Given the description of an element on the screen output the (x, y) to click on. 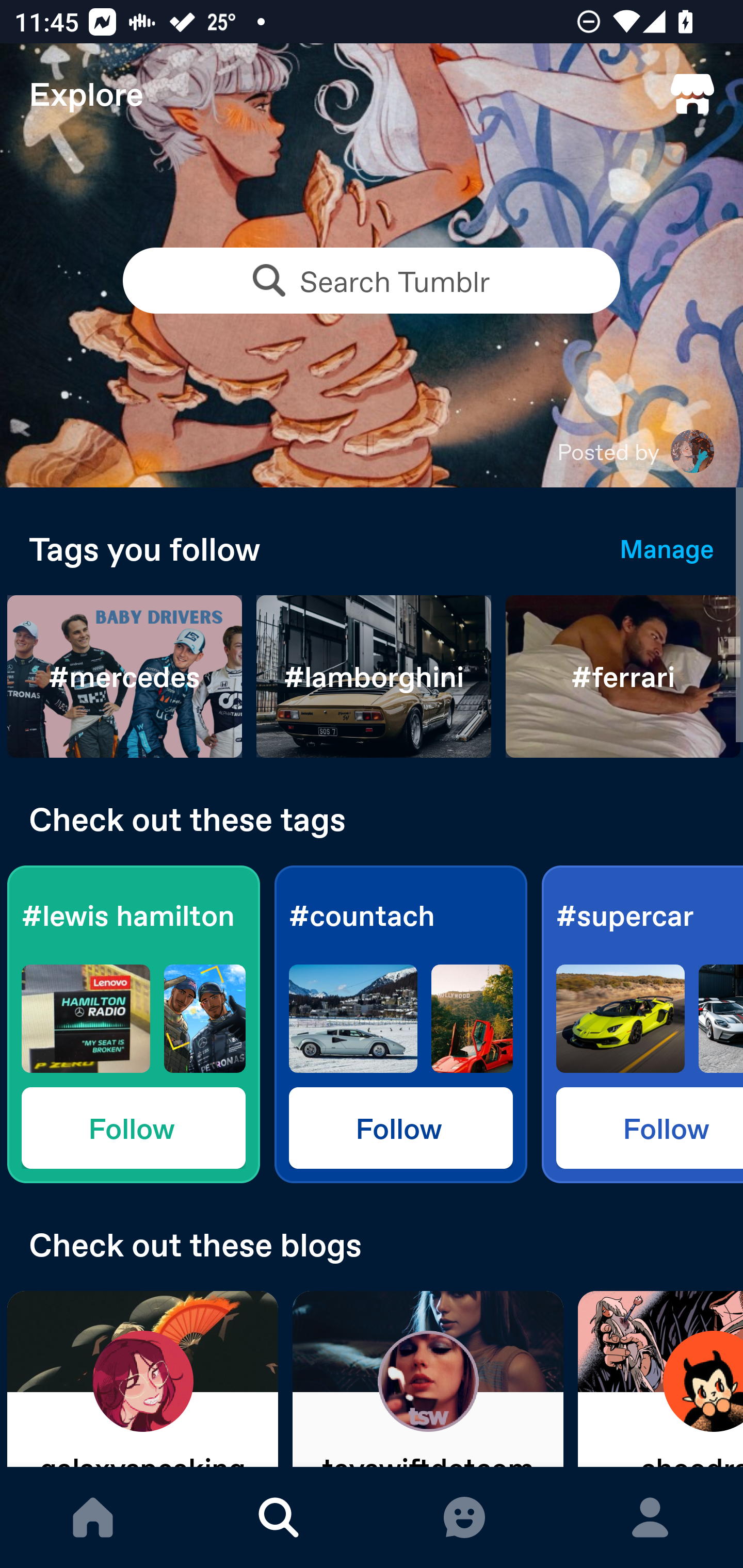
TumblrMart (692, 94)
Search Tumblr (371, 280)
Tags you follow (309, 547)
Manage (666, 547)
#mercedes (124, 676)
#lamborghini (373, 676)
#ferrari (622, 676)
Check out these tags (371, 819)
#lewis hamilton Follow (133, 1024)
#countach Follow (400, 1024)
#supercar Follow (642, 1024)
Follow (133, 1127)
Follow (400, 1127)
Follow (649, 1127)
Check out these blogs (371, 1244)
galaxyspeaking (142, 1378)
tayswiftdotcom (427, 1378)
choodraws (660, 1378)
DASHBOARD (92, 1517)
EXPLORE (278, 1517)
MESSAGES (464, 1517)
ACCOUNT (650, 1517)
